Given the description of an element on the screen output the (x, y) to click on. 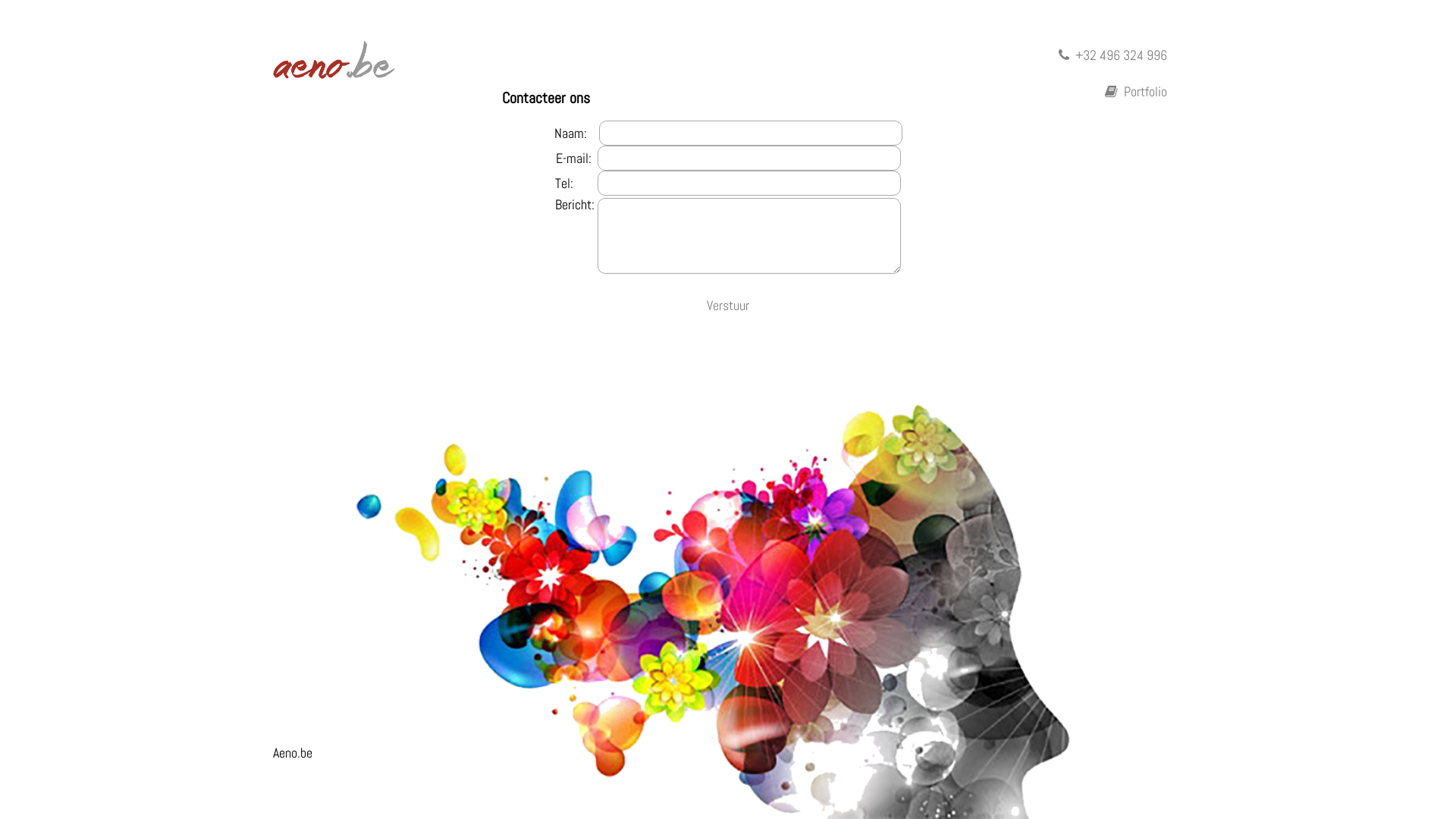
Verstuur Element type: text (727, 304)
  +32 496 324 996 Element type: text (1112, 54)
  Portfolio Element type: text (1135, 91)
